Given the description of an element on the screen output the (x, y) to click on. 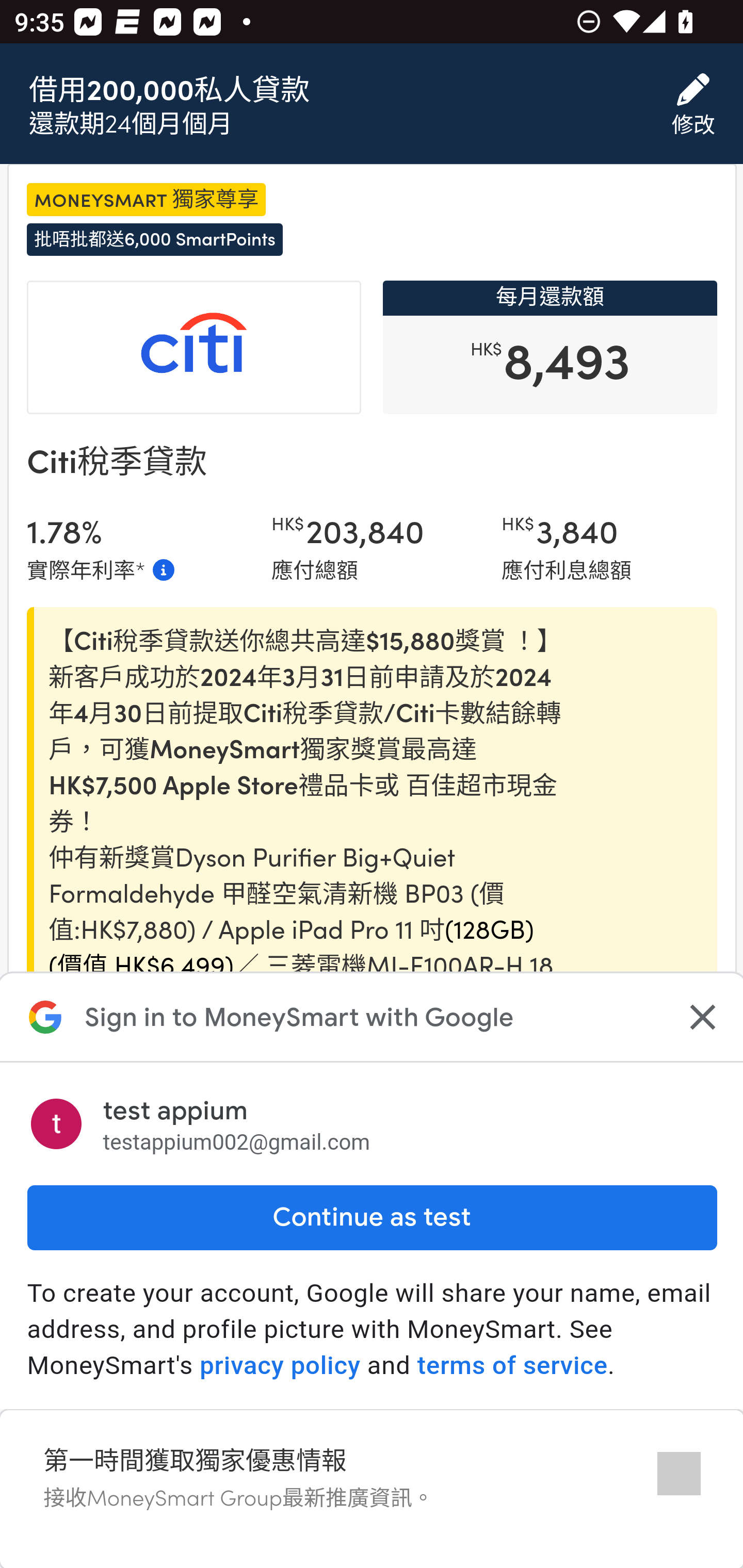
修改 (692, 104)
Citibank 花旗銀行 logo (193, 348)
Citi稅季貸款 (116, 461)
Close (700, 1017)
Continue as test (371, 1217)
privacy policy (279, 1365)
terms of service (511, 1365)
